Given the description of an element on the screen output the (x, y) to click on. 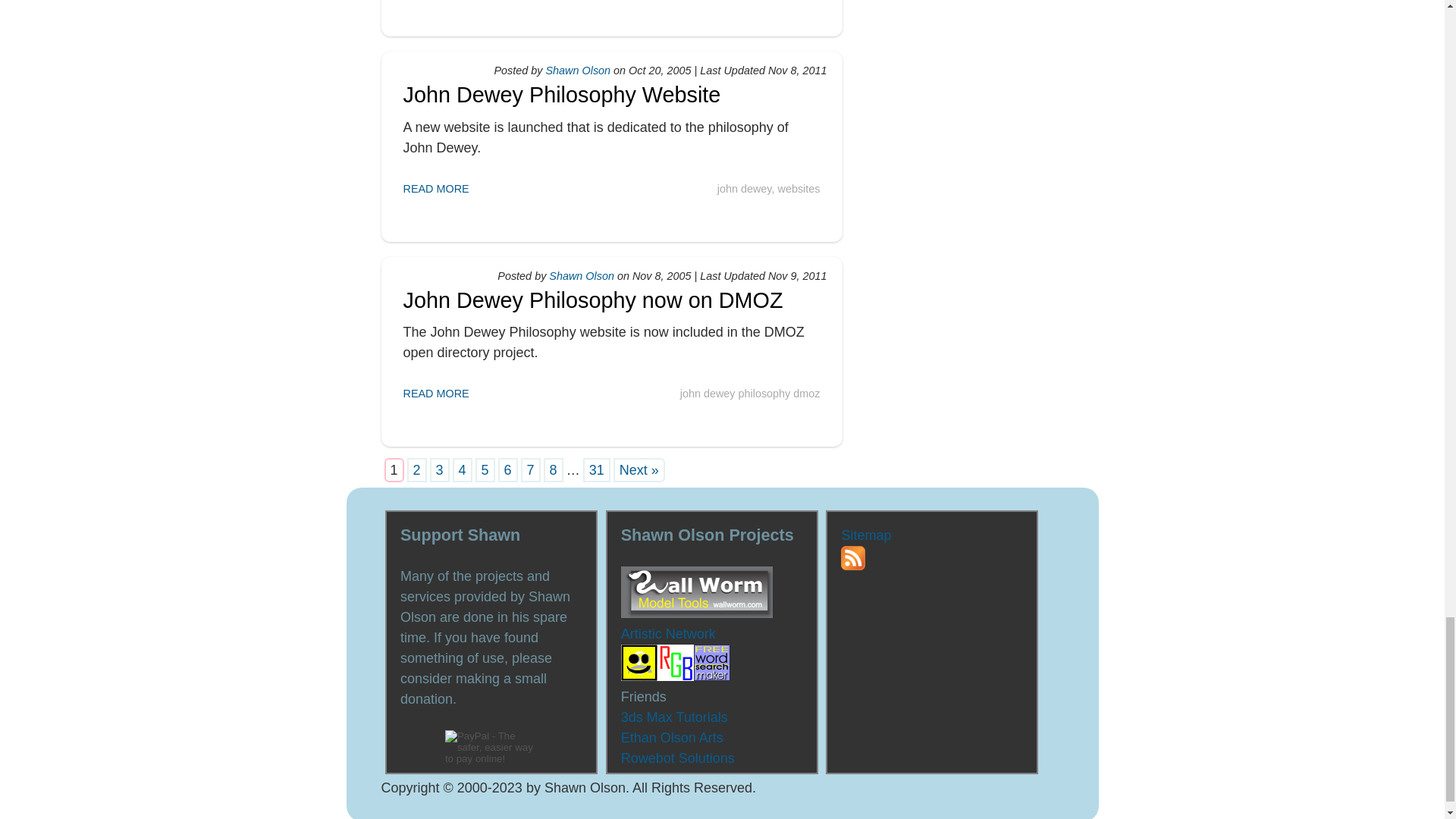
31 (596, 469)
John Dewey Philosophy Website (561, 94)
John Dewey Philosophy now on DMOZ (593, 300)
READ MORE (435, 188)
Video Tutorials on creating VFX in 3ds Max (674, 717)
Ethan Olson is a 3D artist and son of Shawn Olson (672, 737)
Shawn Olson (581, 275)
READ MORE (435, 393)
Shawn Olson (578, 70)
